Given the description of an element on the screen output the (x, y) to click on. 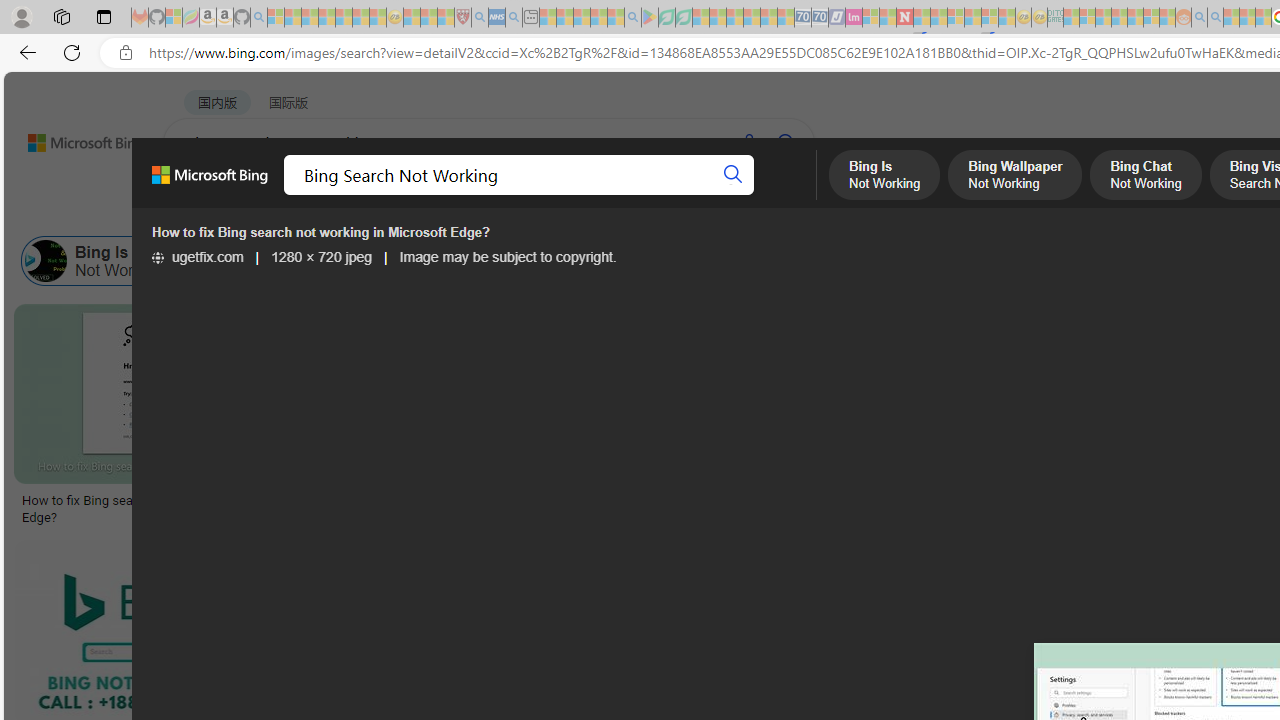
Bing Chat Not Working (415, 260)
DICT (717, 195)
Https Bing Search (1183, 260)
2:22 (368, 322)
Terms of Use Agreement - Sleeping (666, 17)
